Given the description of an element on the screen output the (x, y) to click on. 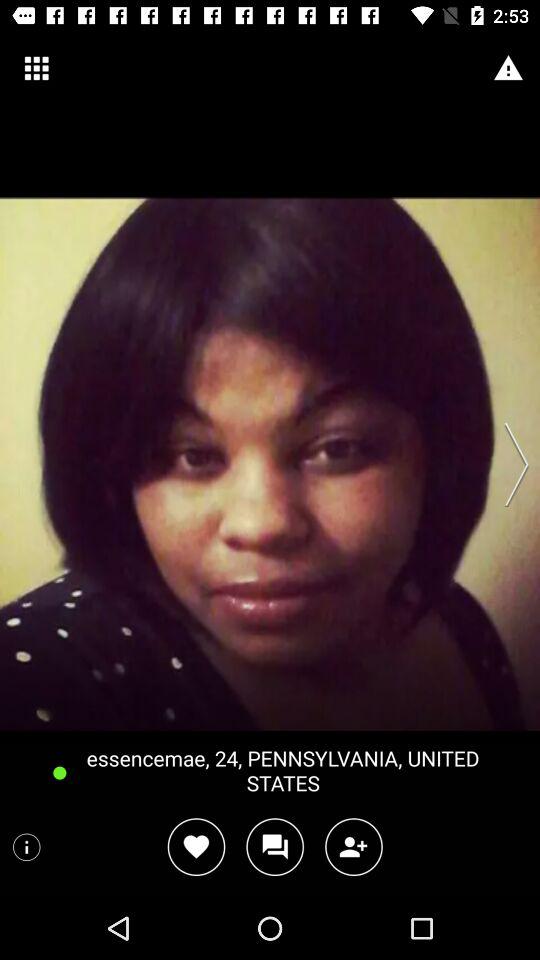
swipe right (510, 464)
